Given the description of an element on the screen output the (x, y) to click on. 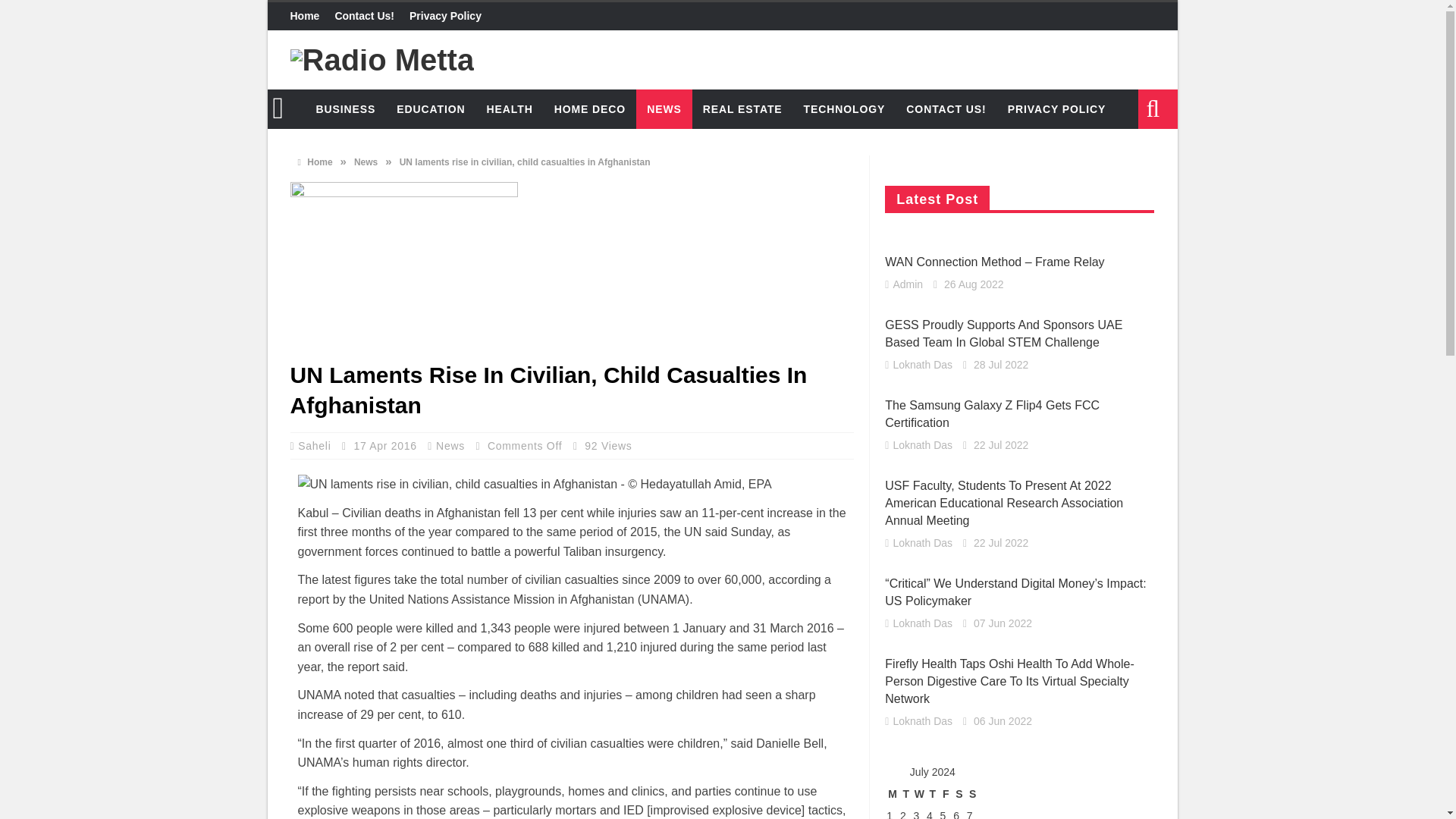
HOME (285, 108)
PRIVACY POLICY (1056, 108)
UN laments rise in civilian, child casualties in Afghanistan (402, 266)
HEALTH (509, 108)
HOME DECO (589, 108)
Radio Metta (381, 59)
EDUCATION (430, 108)
Home (314, 162)
Home (307, 16)
CONTACT US! (945, 108)
Privacy Policy (445, 16)
News (449, 445)
NEWS (664, 108)
News (365, 162)
Saheli (316, 445)
